Given the description of an element on the screen output the (x, y) to click on. 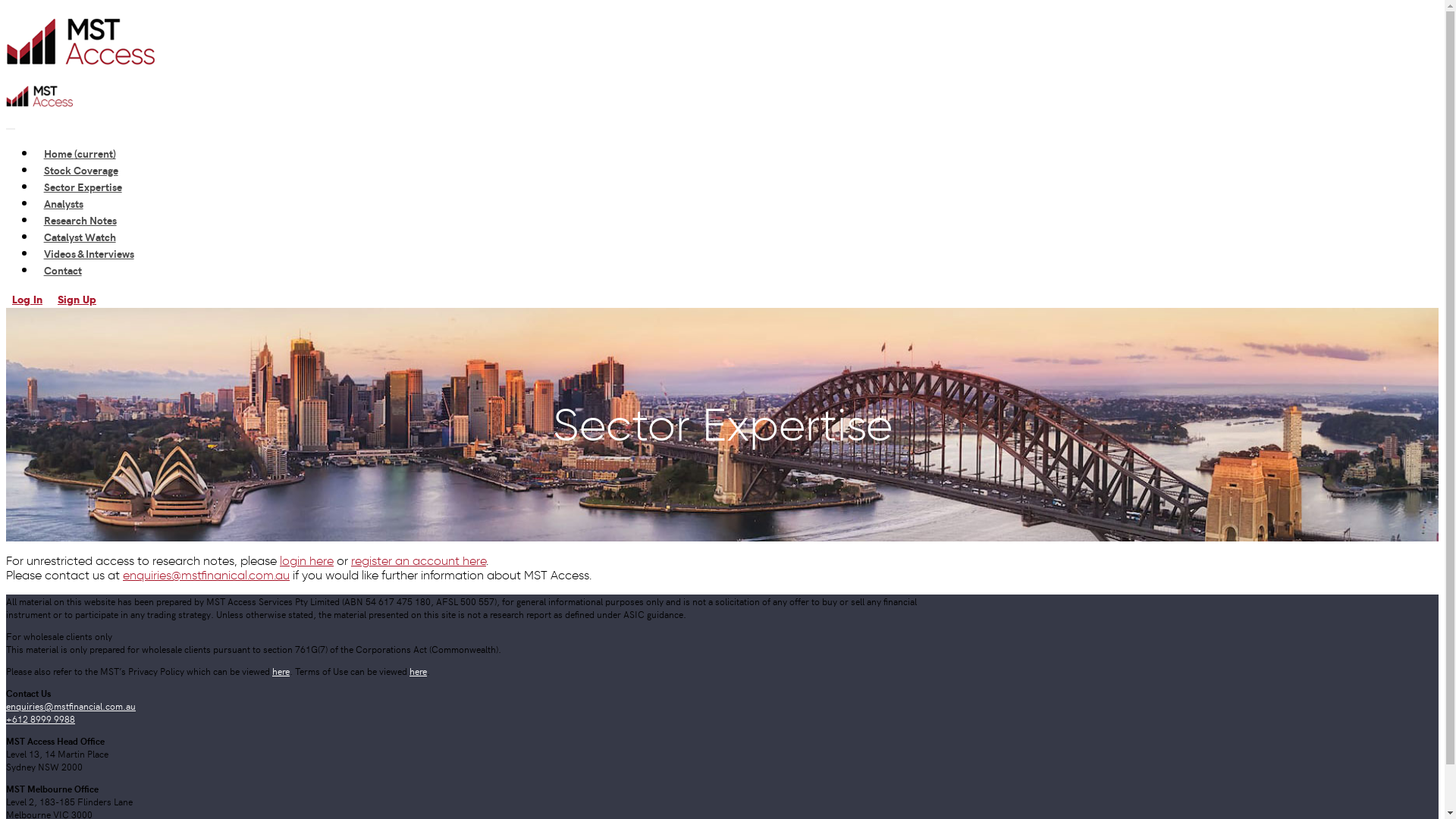
Videos & Interviews Element type: text (88, 252)
Catalyst Watch Element type: text (79, 236)
enquiries@mstfinancial.com.au Element type: text (70, 705)
Log In Element type: text (27, 299)
login here Element type: text (306, 560)
enquiries@mstfinanical.com.au Element type: text (205, 574)
register an account here Element type: text (418, 560)
+612 8999 9988 Element type: text (40, 718)
here Element type: text (417, 670)
here Element type: text (280, 670)
Research Notes Element type: text (79, 219)
Stock Coverage Element type: text (80, 169)
Sector Expertise Element type: text (82, 186)
Home (current) Element type: text (79, 152)
Sign Up Element type: text (76, 299)
Analysts Element type: text (63, 202)
Contact Element type: text (62, 269)
